Given the description of an element on the screen output the (x, y) to click on. 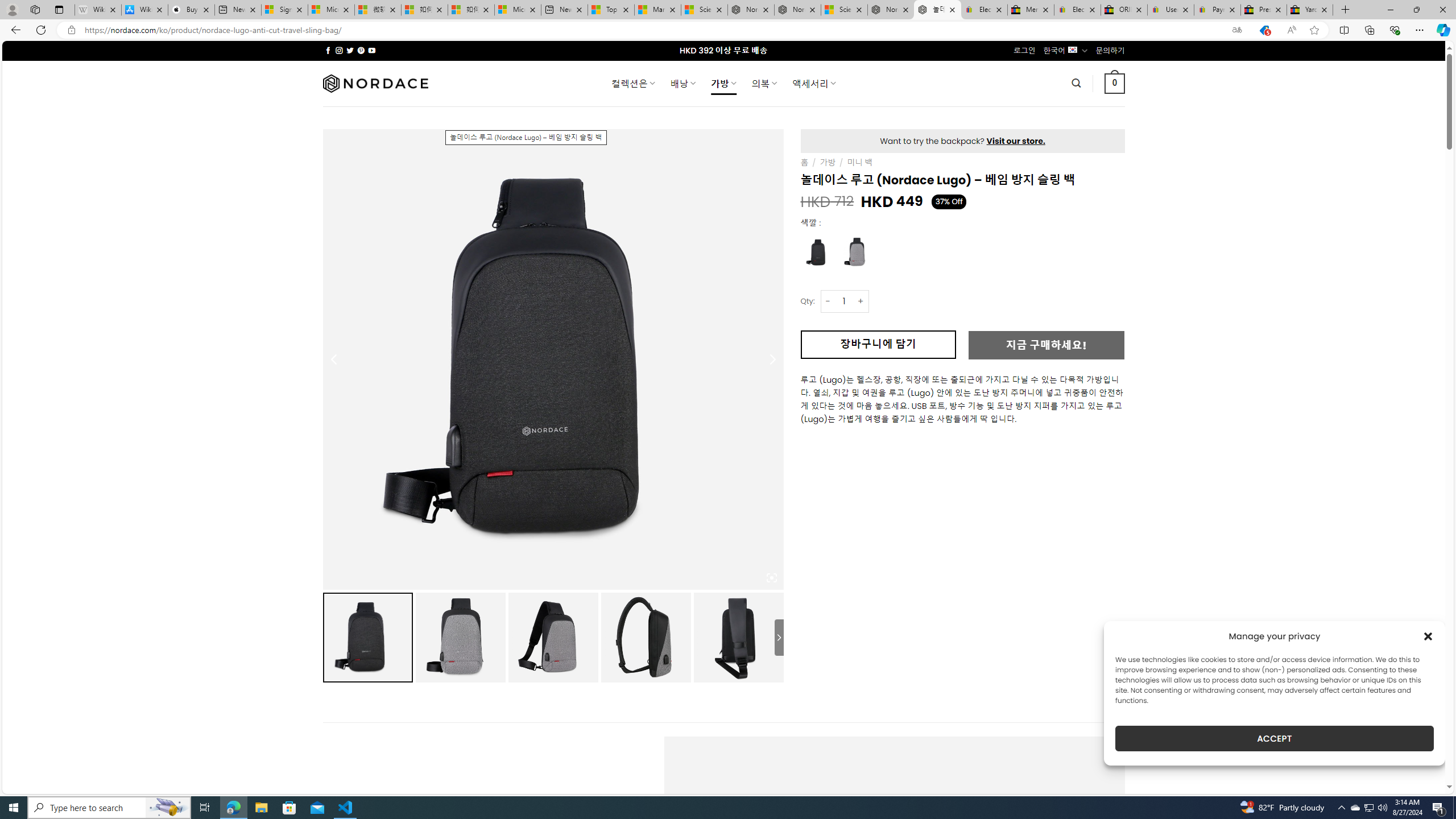
Visit our store. (1015, 140)
